Given the description of an element on the screen output the (x, y) to click on. 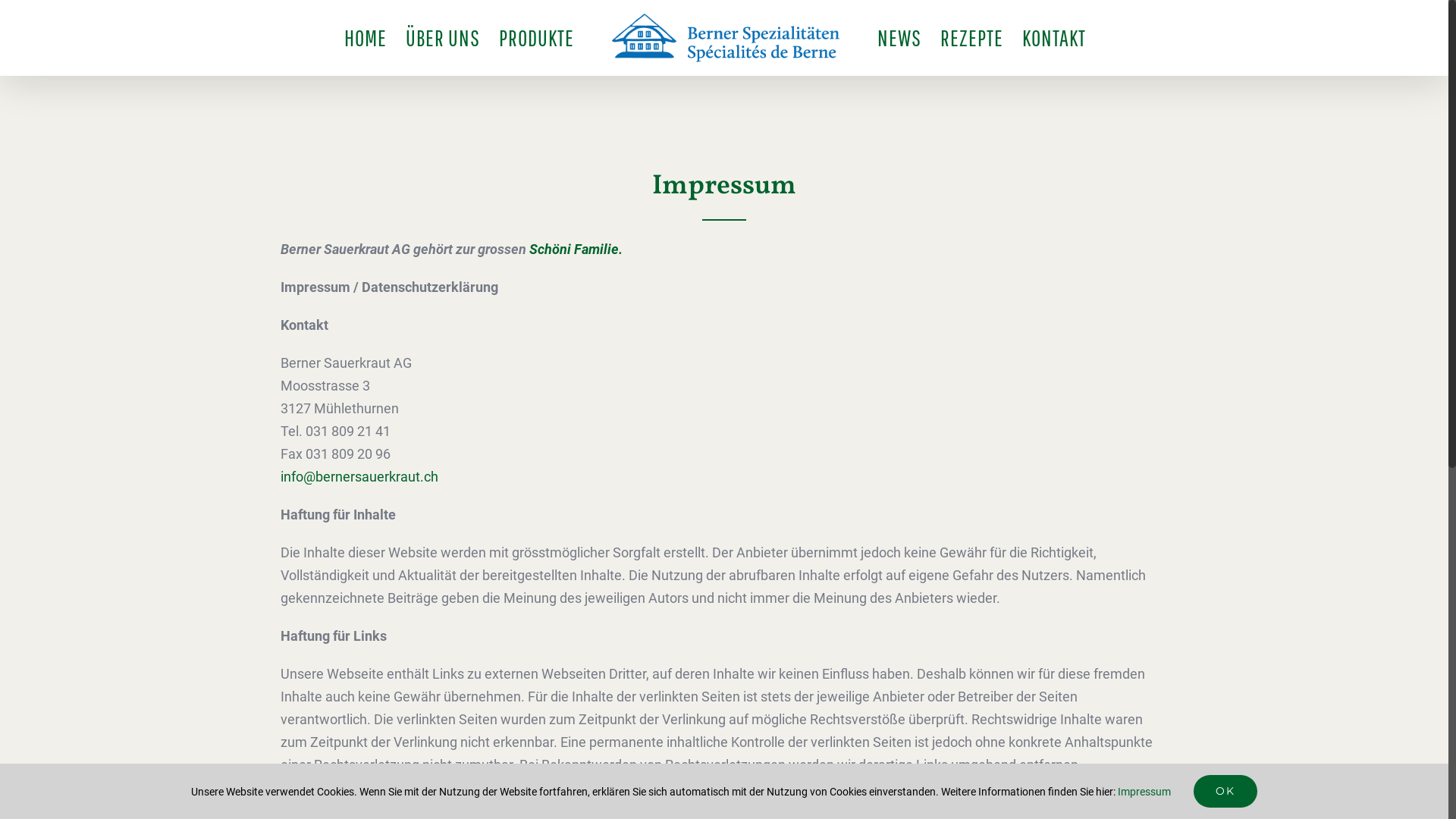
PRODUKTE Element type: text (536, 37)
REZEPTE Element type: text (971, 37)
Impressum Element type: text (1143, 791)
NEWS Element type: text (898, 37)
HOME Element type: text (365, 37)
OK Element type: text (1225, 791)
info@bernersauerkraut.ch Element type: text (359, 476)
KONTAKT Element type: text (1053, 37)
